Given the description of an element on the screen output the (x, y) to click on. 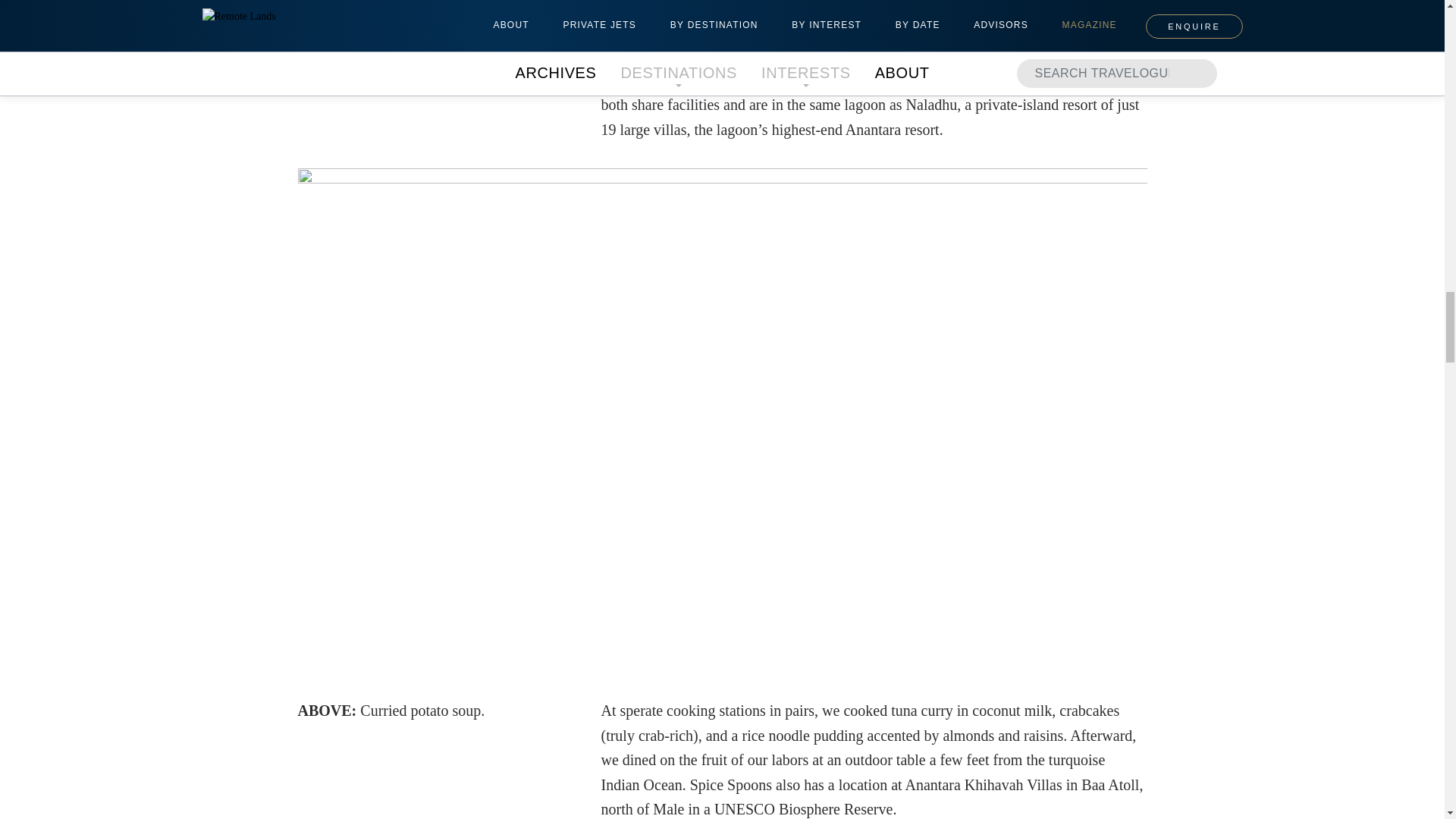
Ripe-Mango-Curry (722, 8)
